Given the description of an element on the screen output the (x, y) to click on. 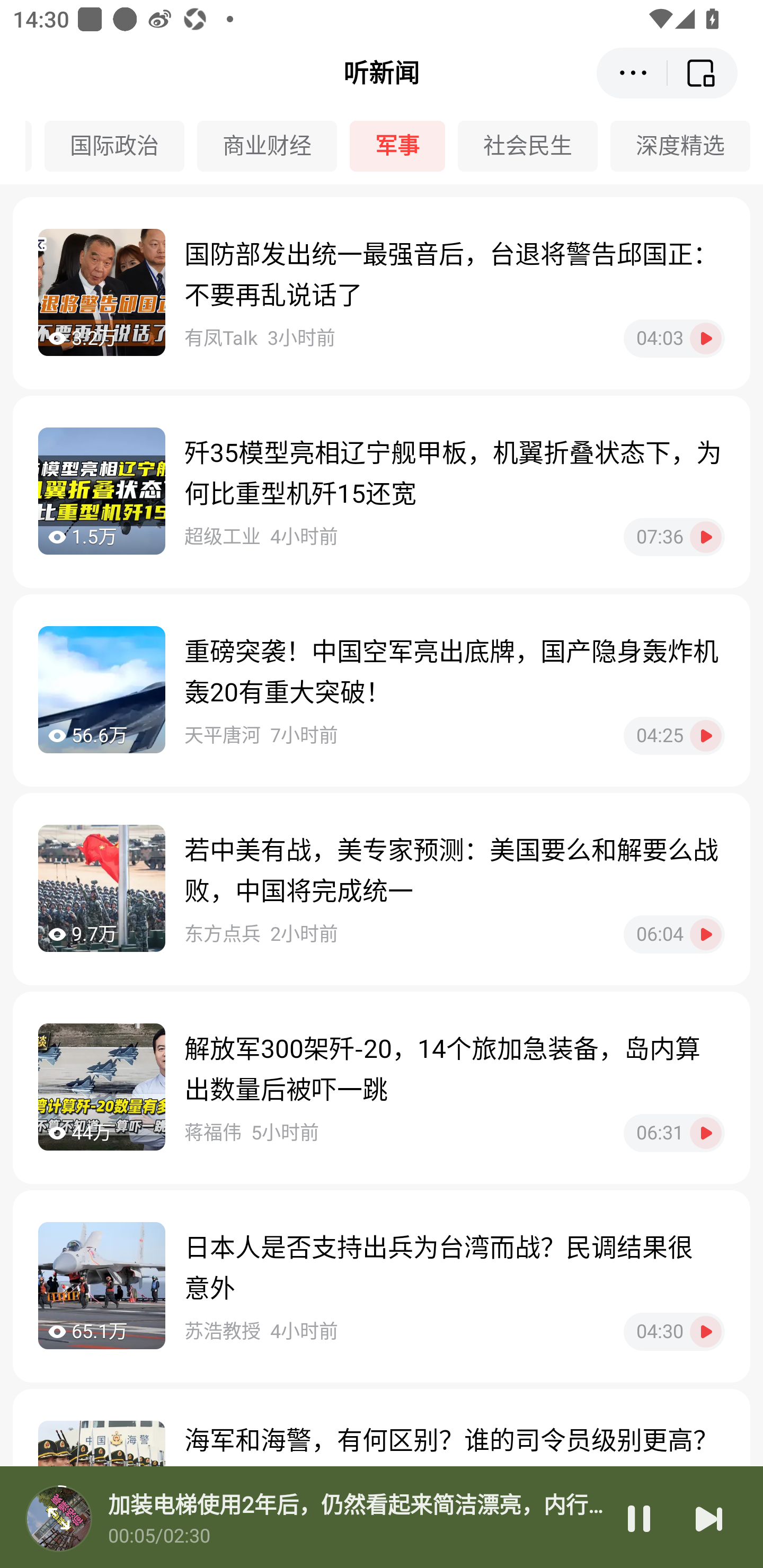
更多 (631, 72)
返回 (702, 72)
国际政治 (120, 146)
商业财经 (272, 146)
军事 (403, 146)
社会民生 (533, 146)
深度精选 (686, 146)
3.2万 国防部发出统一最强音后，台退将警告邱国正：不要再乱说话了 有凤Talk3小时前 04:03 (381, 292)
04:03 (673, 338)
07:36 (673, 536)
04:25 (673, 735)
9.7万 若中美有战，美专家预测：美国要么和解要么战败，中国将完成统一 东方点兵2小时前 06:04 (381, 888)
06:04 (673, 934)
44万 解放军300架歼-20，14个旅加急装备，岛内算出数量后被吓一跳 蒋福伟5小时前 06:31 (381, 1086)
06:31 (673, 1132)
65.1万 日本人是否支持出兵为台湾而战？民调结果很
意外 苏浩教授4小时前 04:30 (381, 1286)
04:30 (673, 1331)
2.6万 海军和海警，有何区别？谁的司令员级别更高？ 太空记6小时前 03:38 (381, 1478)
暂停 (638, 1518)
下一篇 (708, 1518)
